Given the description of an element on the screen output the (x, y) to click on. 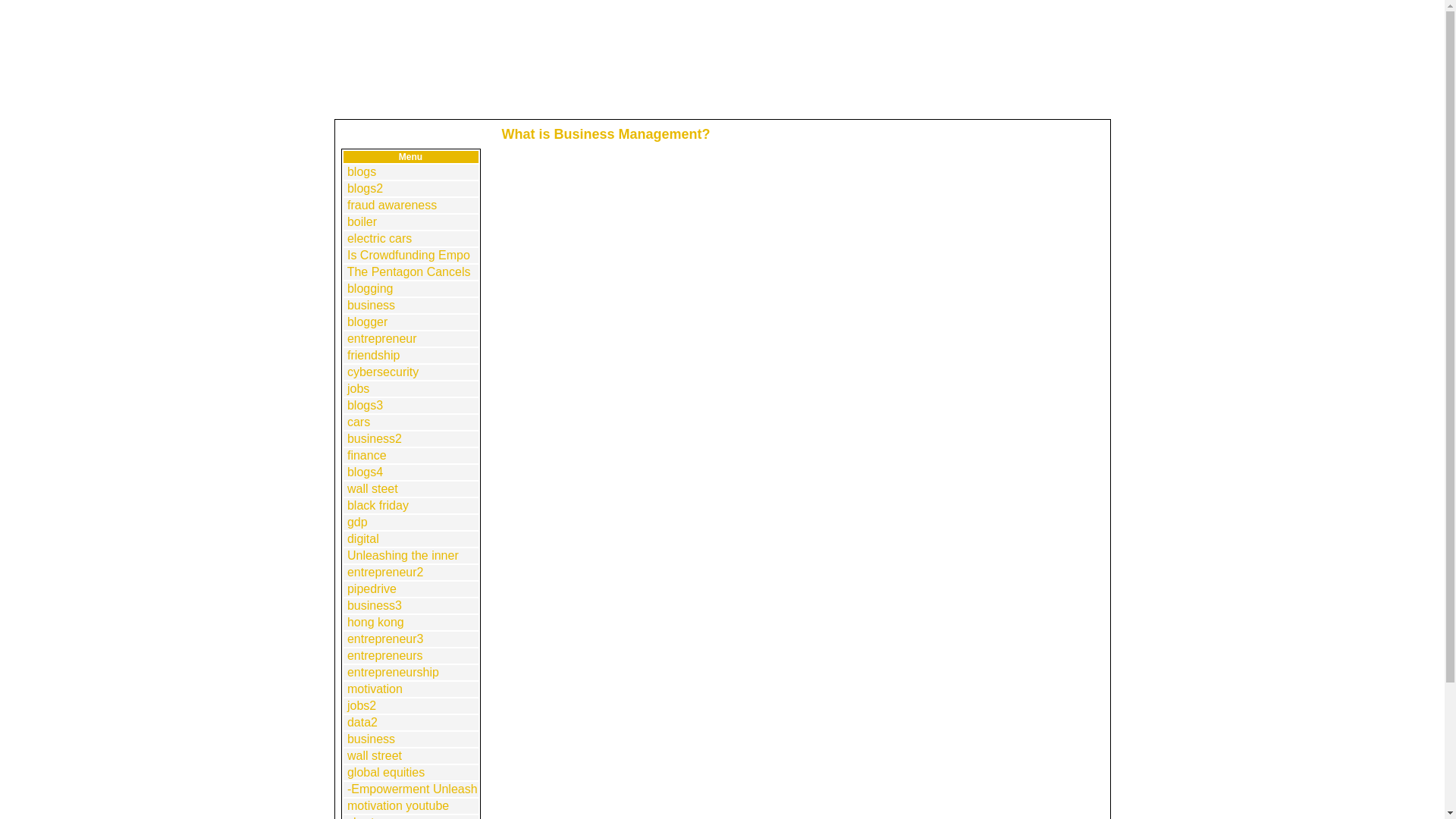
gdp (357, 521)
hong kong (375, 621)
business (370, 305)
black friday (378, 504)
Unleashing the inner (402, 554)
global equities (386, 771)
motivation youtube (397, 805)
jobs2 (361, 705)
-Empowerment Unleash (412, 788)
entrepreneur (381, 338)
